Given the description of an element on the screen output the (x, y) to click on. 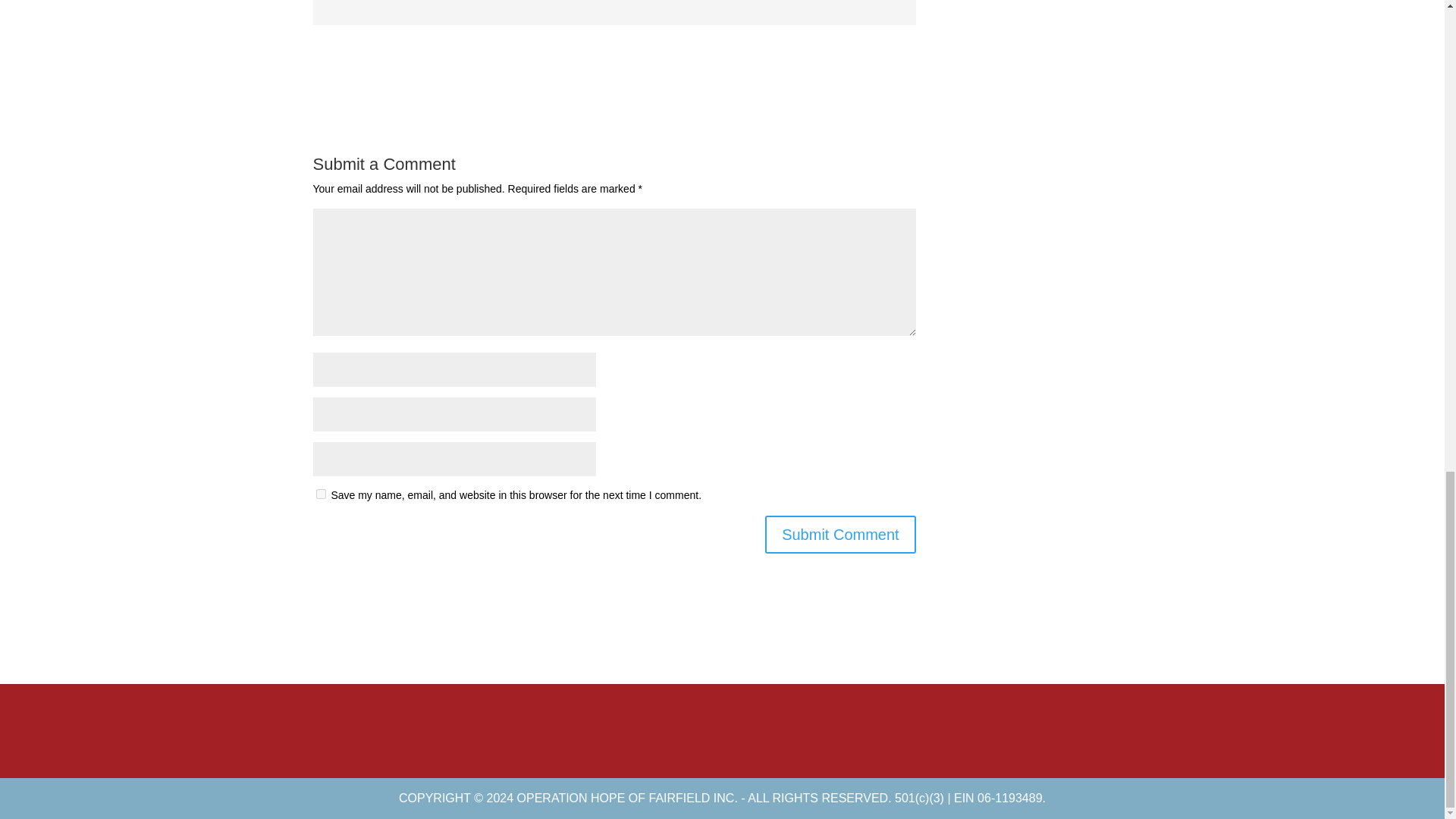
Submit Comment (840, 534)
Submit Comment (840, 534)
yes (319, 493)
